Given the description of an element on the screen output the (x, y) to click on. 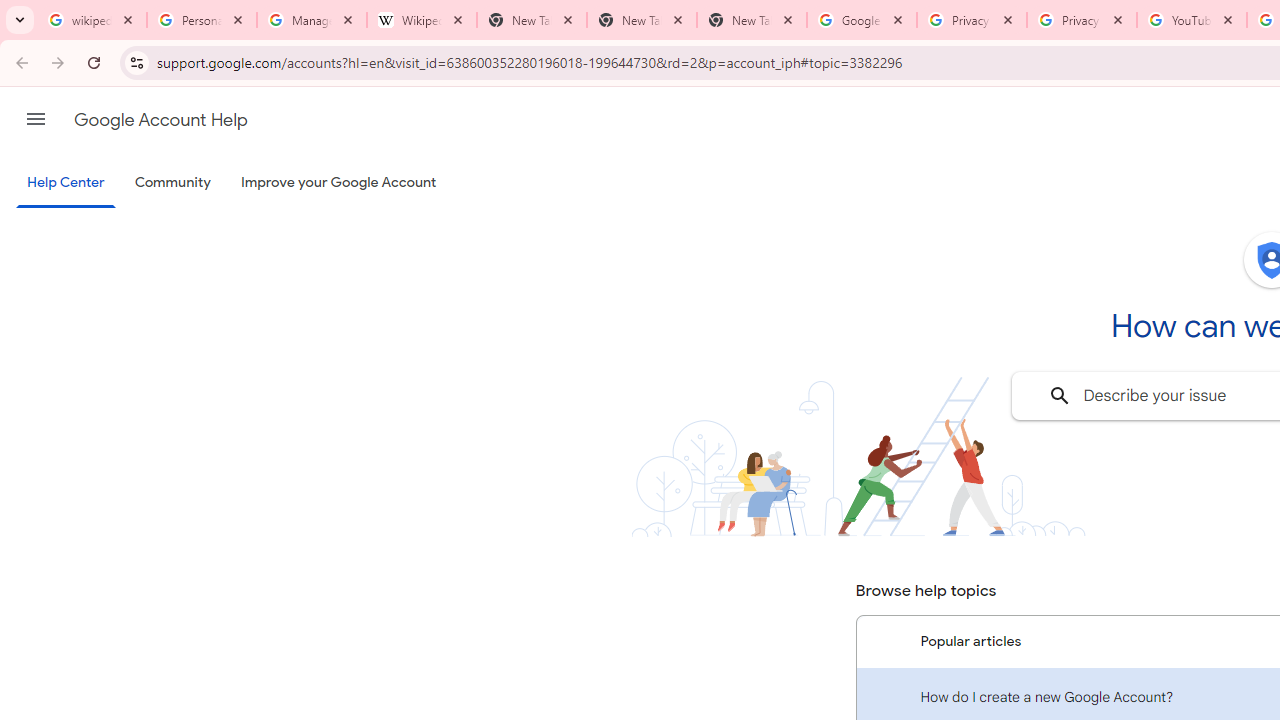
YouTube (1191, 20)
Google Account Help (160, 119)
Manage your Location History - Google Search Help (312, 20)
